Given the description of an element on the screen output the (x, y) to click on. 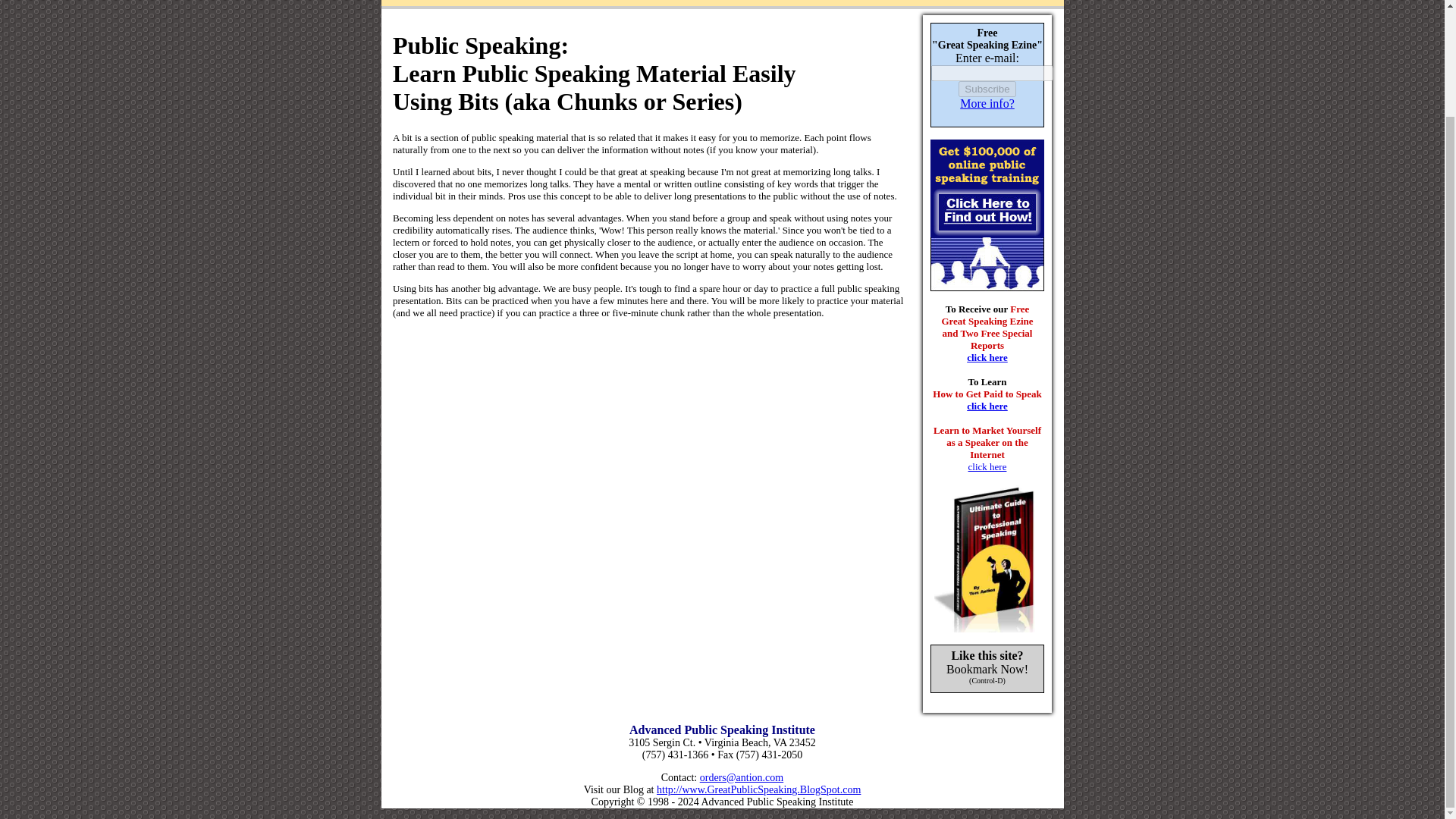
click here (987, 466)
Subscribe (986, 89)
Subscribe (986, 89)
More info? (986, 103)
click here (986, 357)
click here (986, 405)
